Given the description of an element on the screen output the (x, y) to click on. 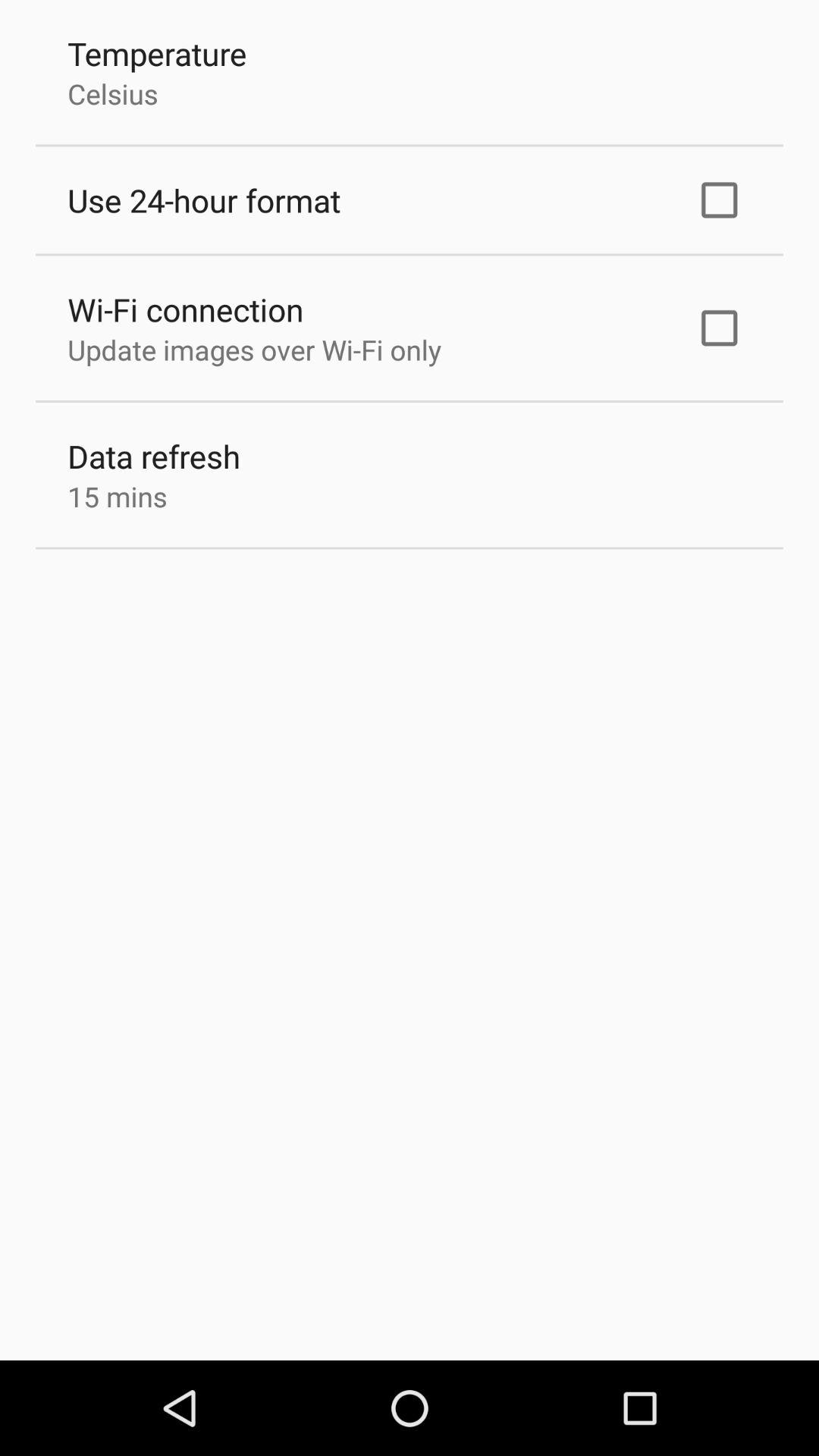
open the icon below temperature app (112, 93)
